Given the description of an element on the screen output the (x, y) to click on. 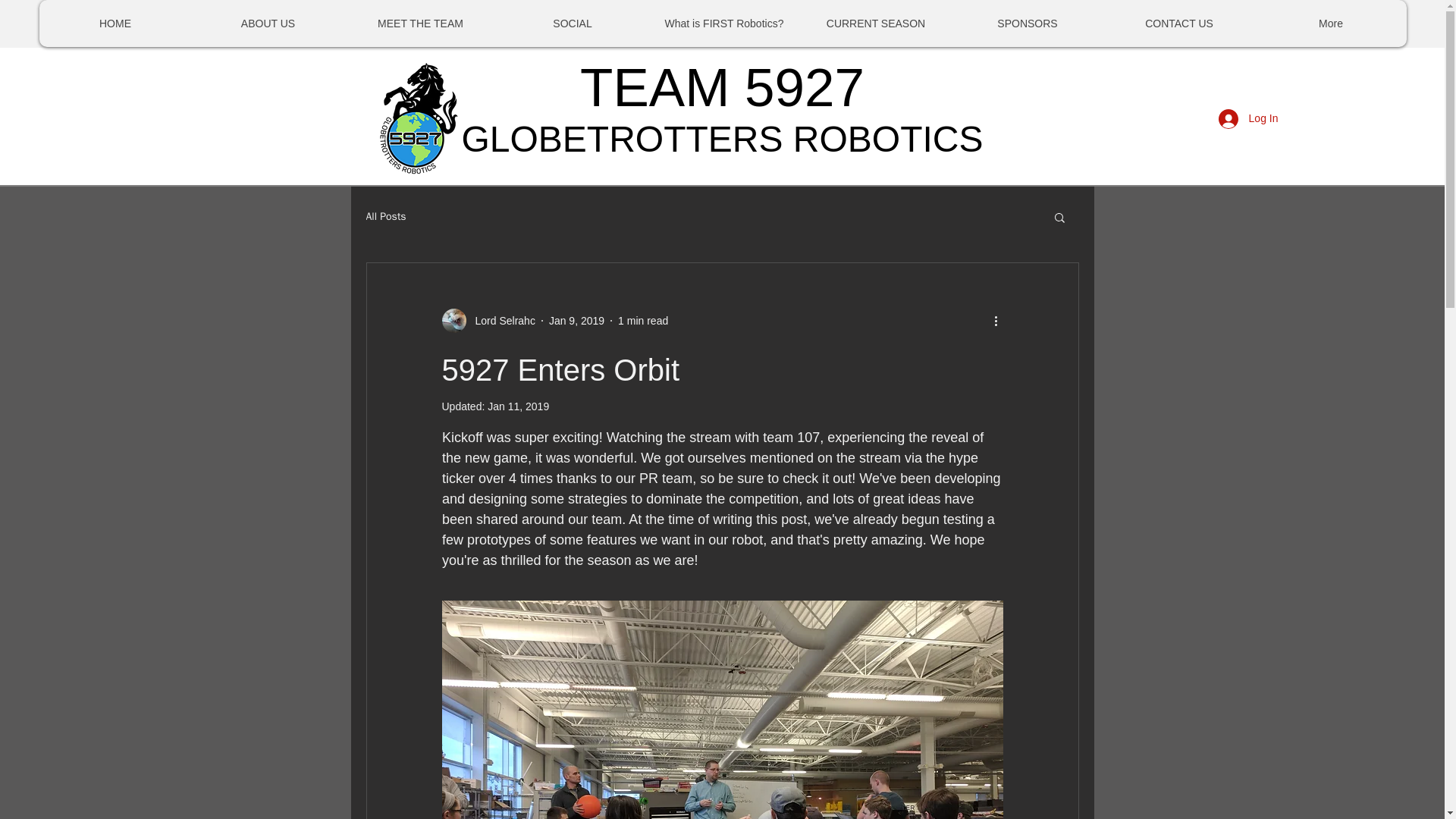
CURRENT SEASON (874, 23)
What is FIRST Robotics? (723, 23)
SPONSORS (1026, 23)
SOCIAL (571, 23)
Jan 11, 2019 (517, 406)
Log In (1248, 118)
ABOUT US (266, 23)
CONTACT US (1177, 23)
MEET THE TEAM (419, 23)
Jan 9, 2019 (576, 319)
Lord Selrahc (499, 320)
Lord Selrahc (487, 320)
1 min read (642, 319)
HOME (115, 23)
All Posts (385, 216)
